Given the description of an element on the screen output the (x, y) to click on. 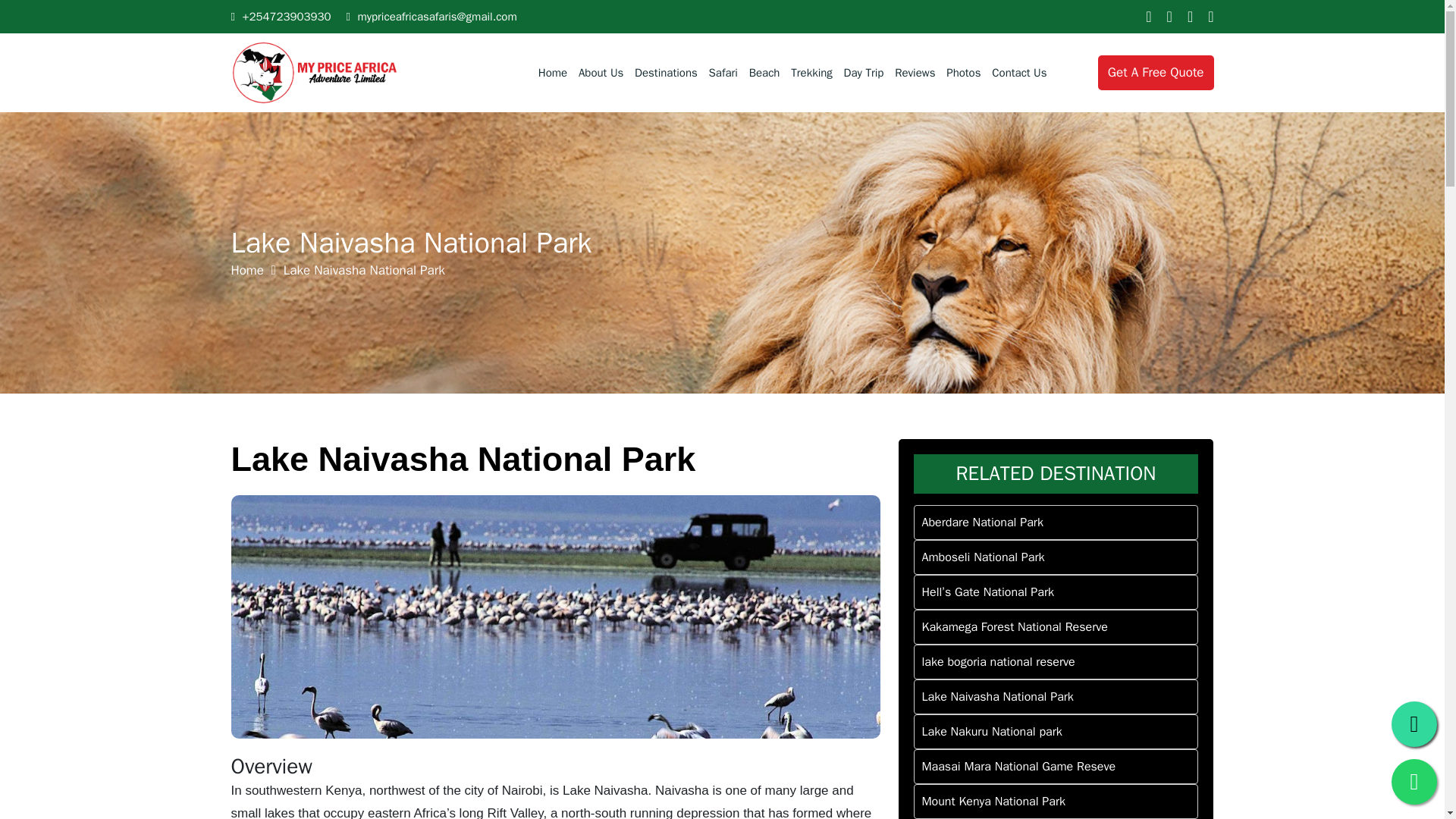
Amboseli National Park (1055, 556)
Aberdare National Park (1055, 522)
lake bogoria national reserve (1055, 661)
Get A Free Quote (1155, 72)
Kakamega Forest National Reserve (1055, 626)
Destinations (665, 72)
Mount Kenya National Park (1055, 801)
Lake Nakuru National park (1055, 731)
Maasai Mara National Game Reseve (1055, 766)
Home (246, 270)
Lake Naivasha National Park (1055, 696)
